Given the description of an element on the screen output the (x, y) to click on. 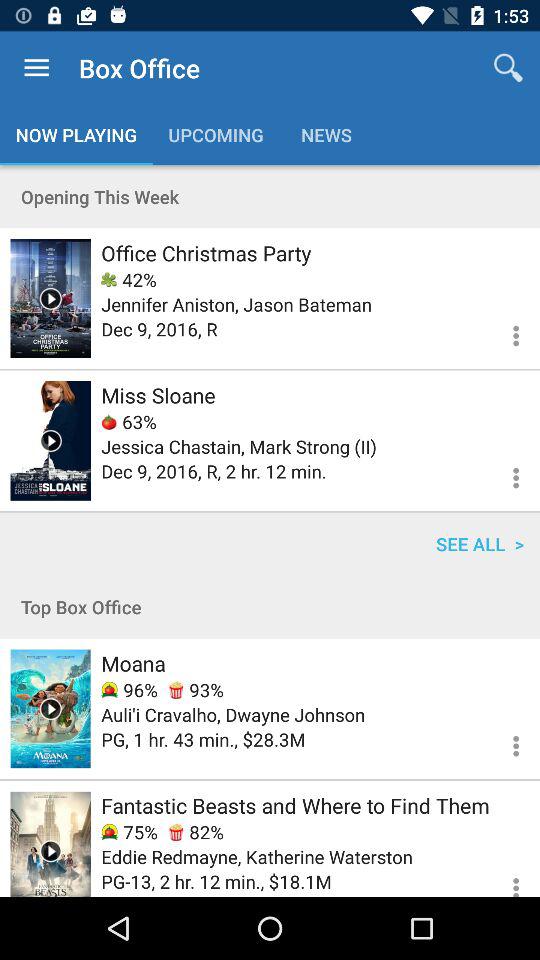
select icon above eddie redmayne katherine item (195, 831)
